Given the description of an element on the screen output the (x, y) to click on. 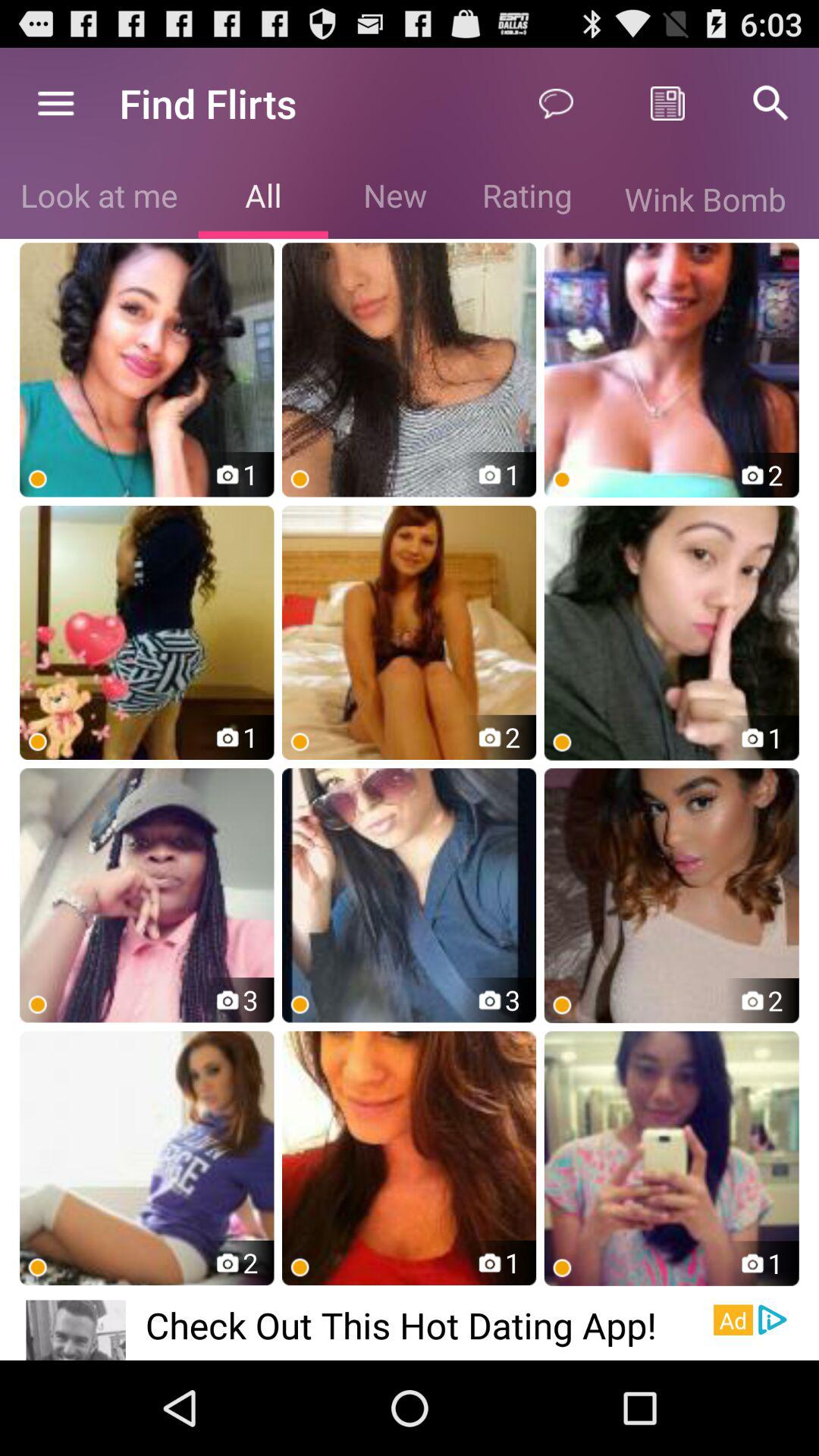
choose the new (395, 198)
